Given the description of an element on the screen output the (x, y) to click on. 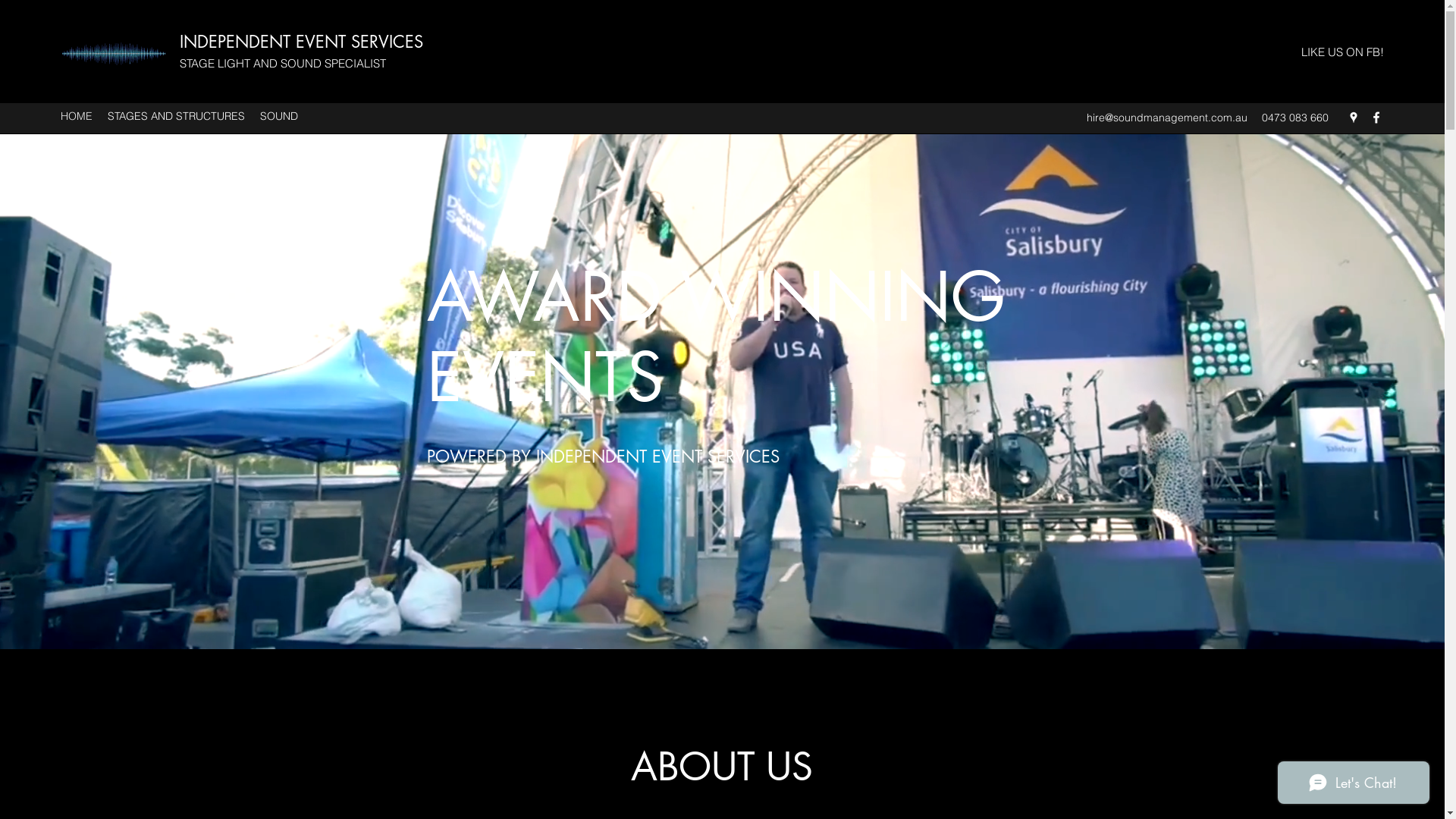
STAGES AND STRUCTURES Element type: text (176, 116)
SOUND Element type: text (278, 116)
LIKE US ON FB! Element type: text (1342, 52)
HOME Element type: text (76, 116)
INDEPENDENT EVENT SERVICES Element type: text (301, 41)
hire@soundmanagement.com.au Element type: text (1166, 117)
